Given the description of an element on the screen output the (x, y) to click on. 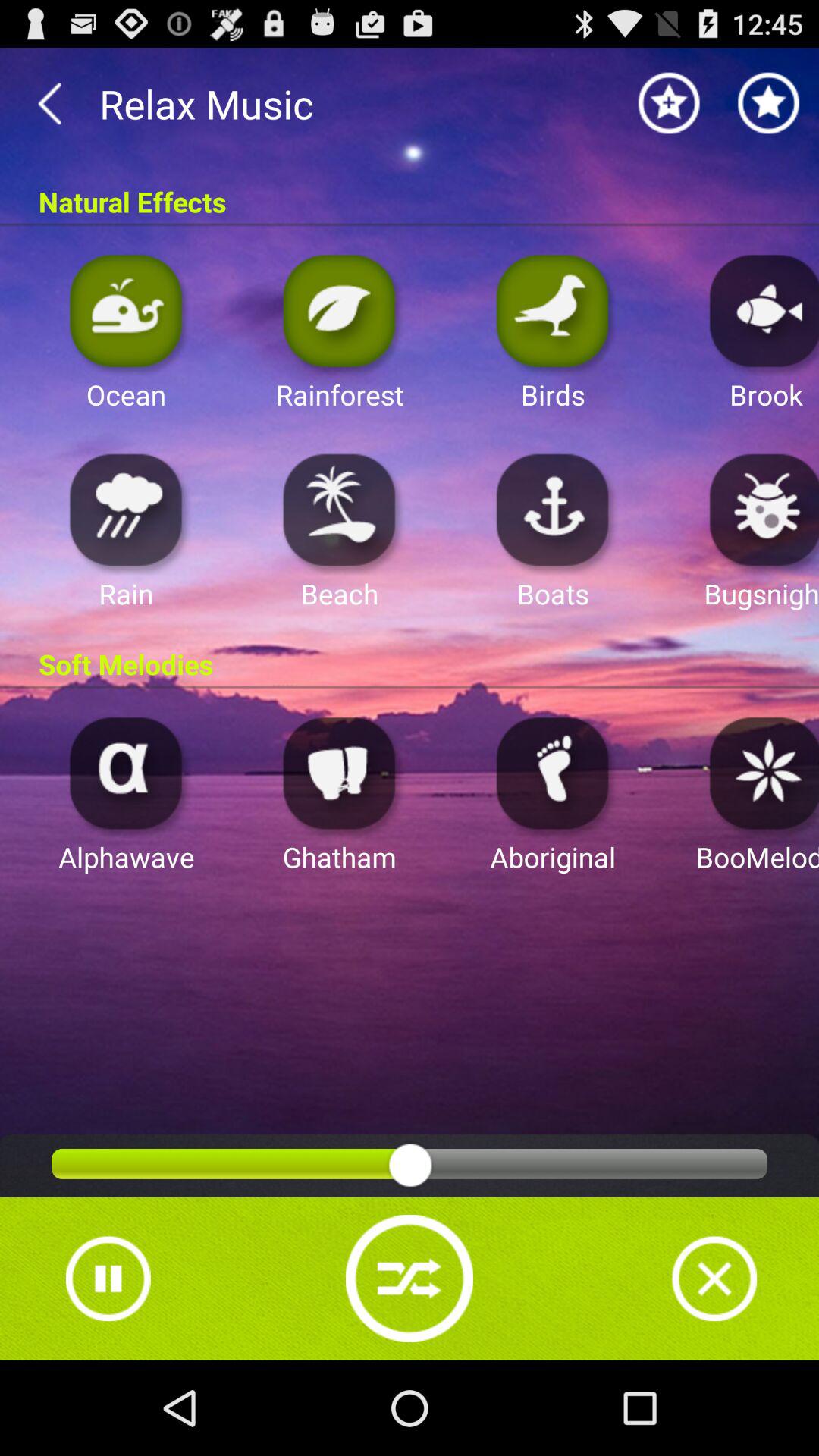
choose aboriginal (552, 772)
